Given the description of an element on the screen output the (x, y) to click on. 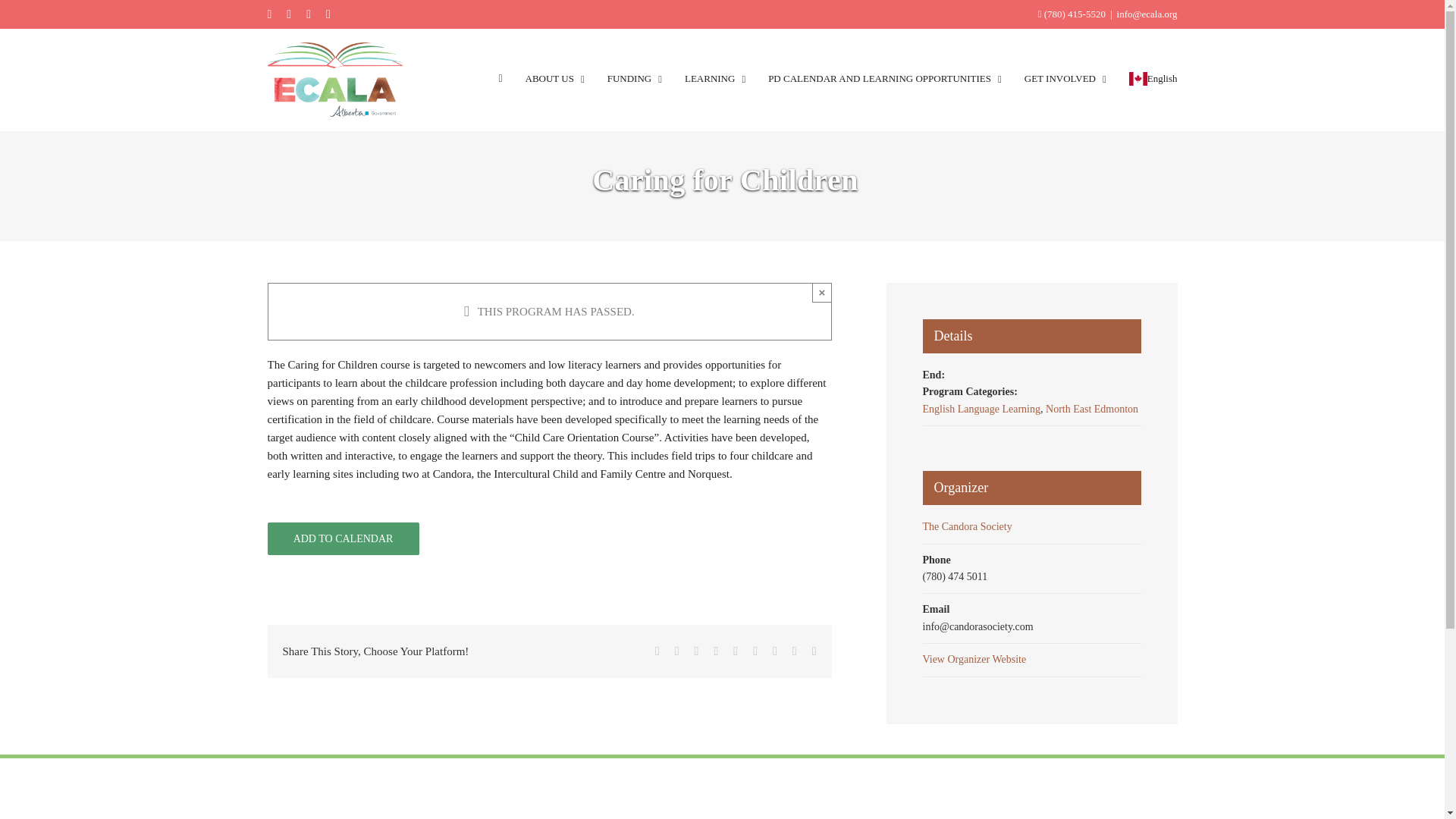
PD CALENDAR AND LEARNING OPPORTUNITIES (884, 78)
GET INVOLVED (1065, 78)
